Given the description of an element on the screen output the (x, y) to click on. 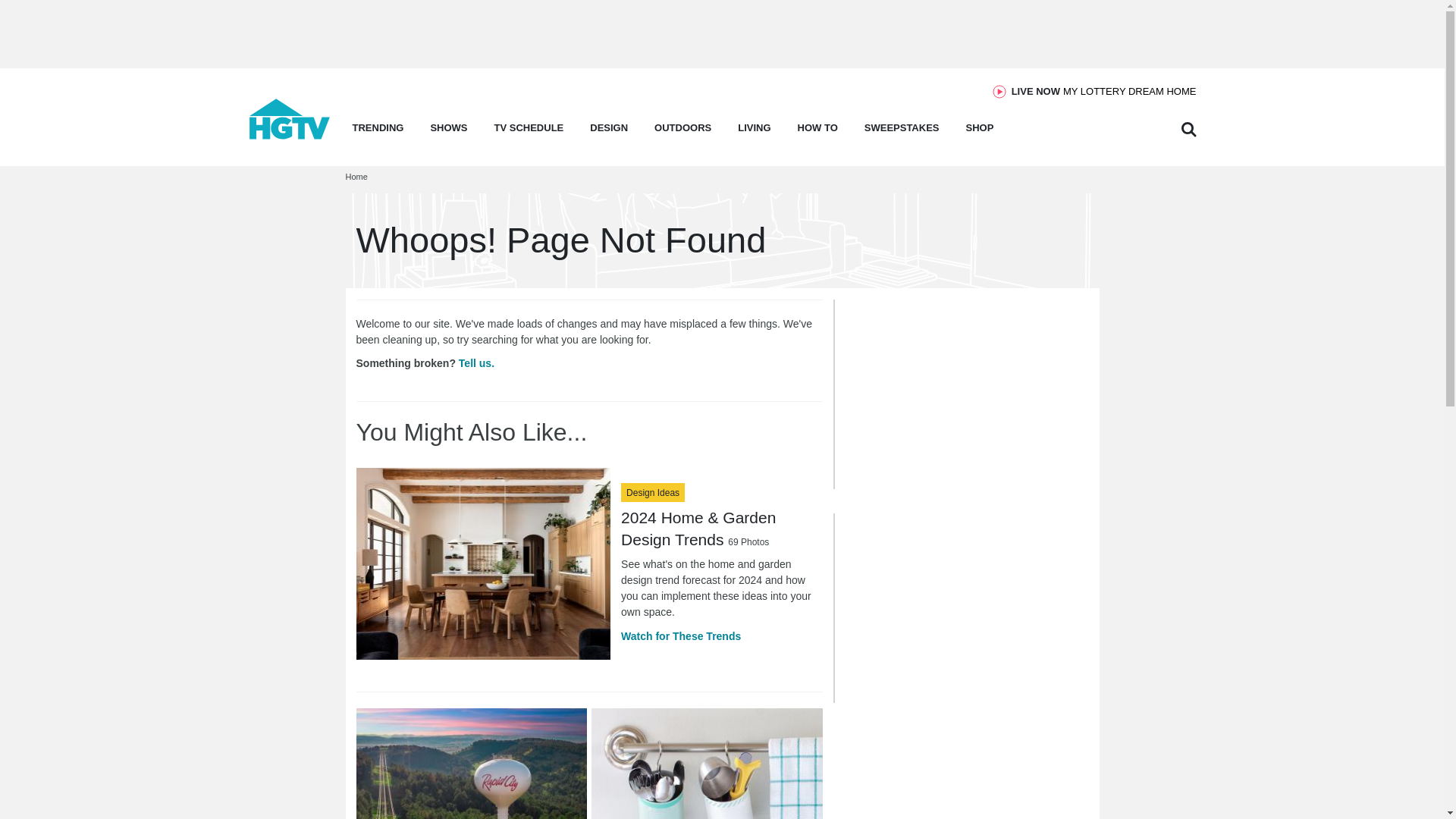
3rd party ad content (957, 393)
85 Clever Dollar Store Hacks (706, 763)
30 Best Up-and-Coming Small Cities in America (472, 763)
home (1103, 91)
3rd party ad content (289, 135)
3rd party ad content (721, 33)
